Given the description of an element on the screen output the (x, y) to click on. 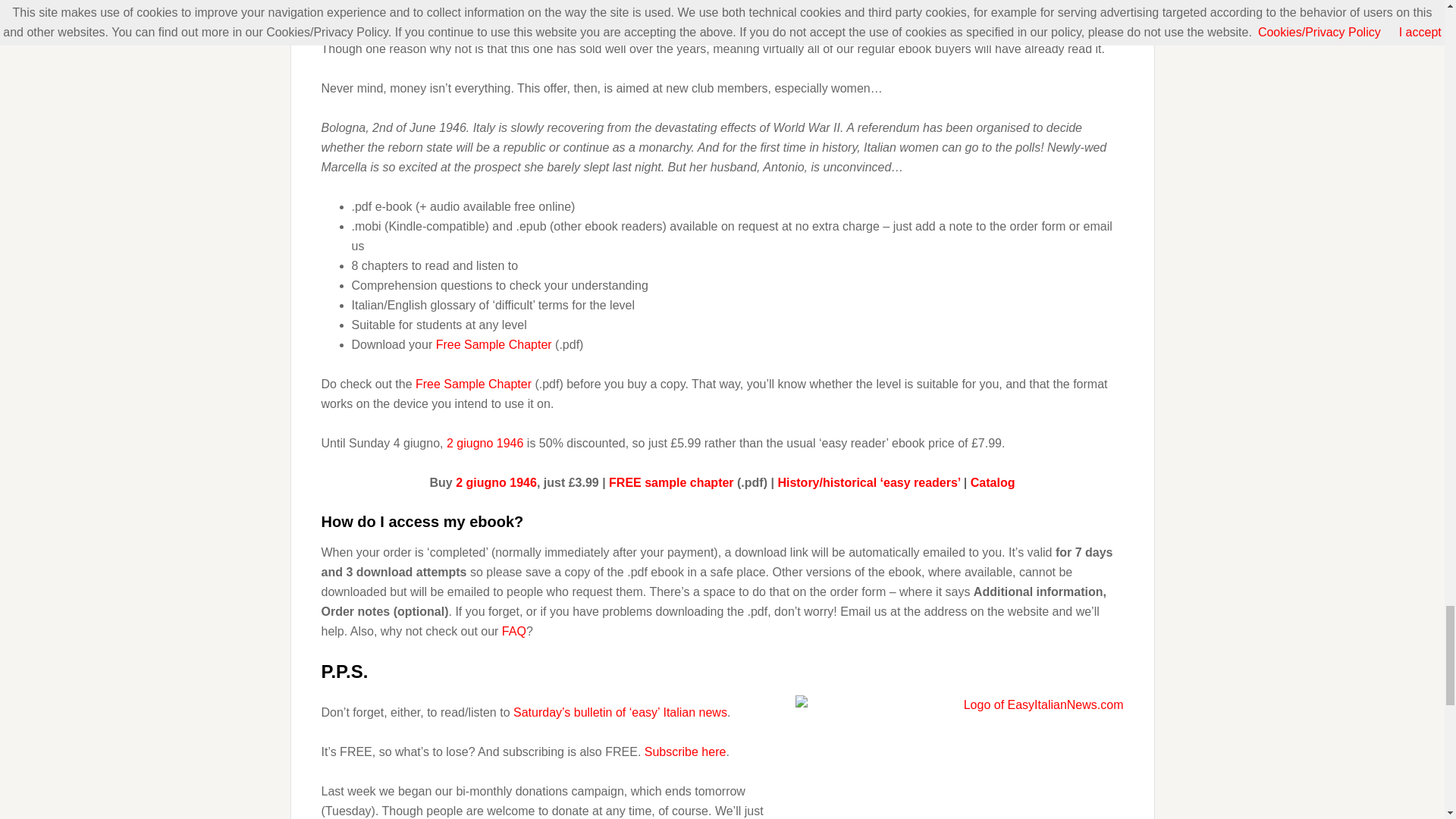
Free Sample Chapter (494, 344)
Free Sample Chapter (472, 383)
